Given the description of an element on the screen output the (x, y) to click on. 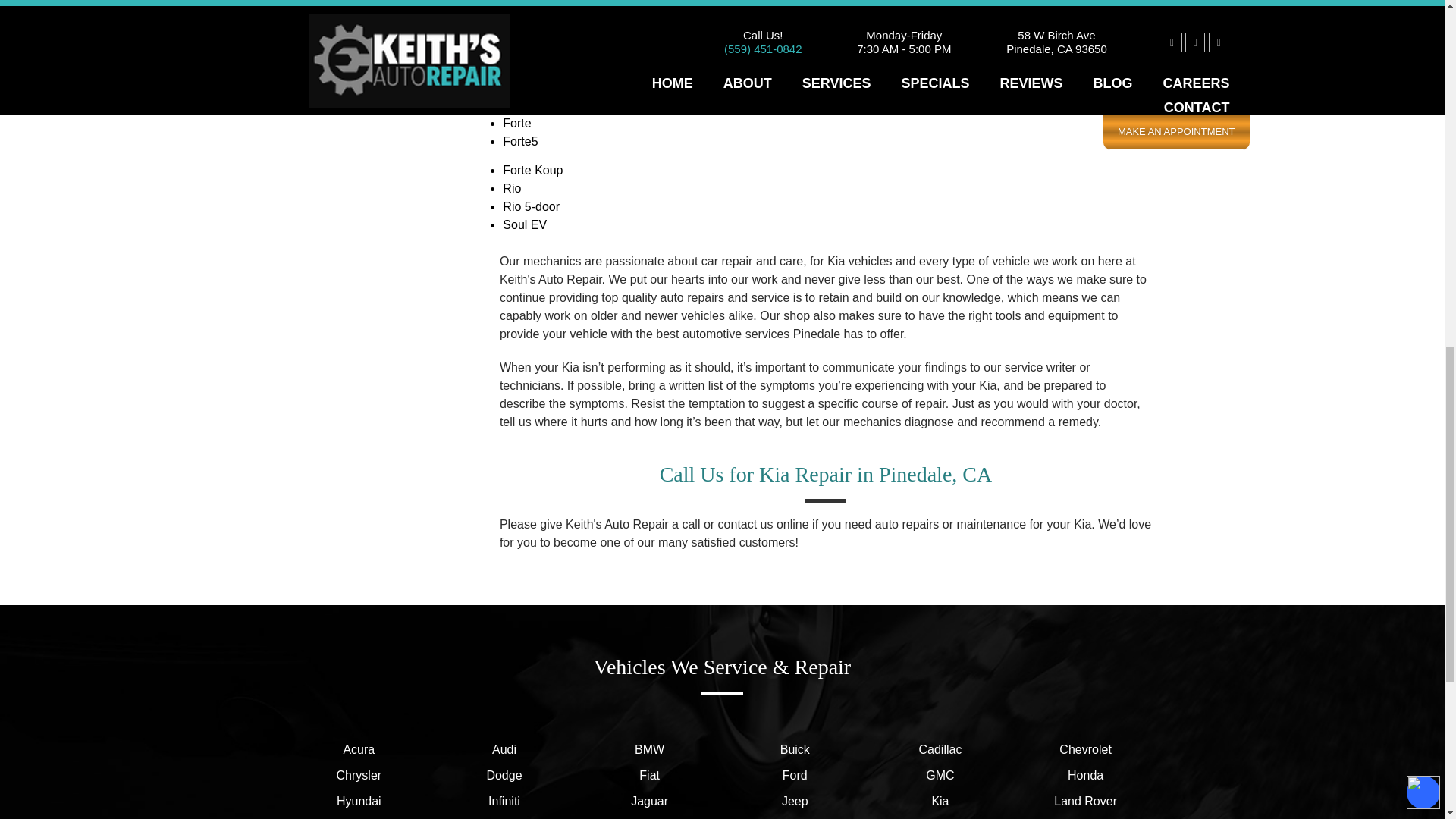
Audi (503, 750)
Acura (359, 750)
